Given the description of an element on the screen output the (x, y) to click on. 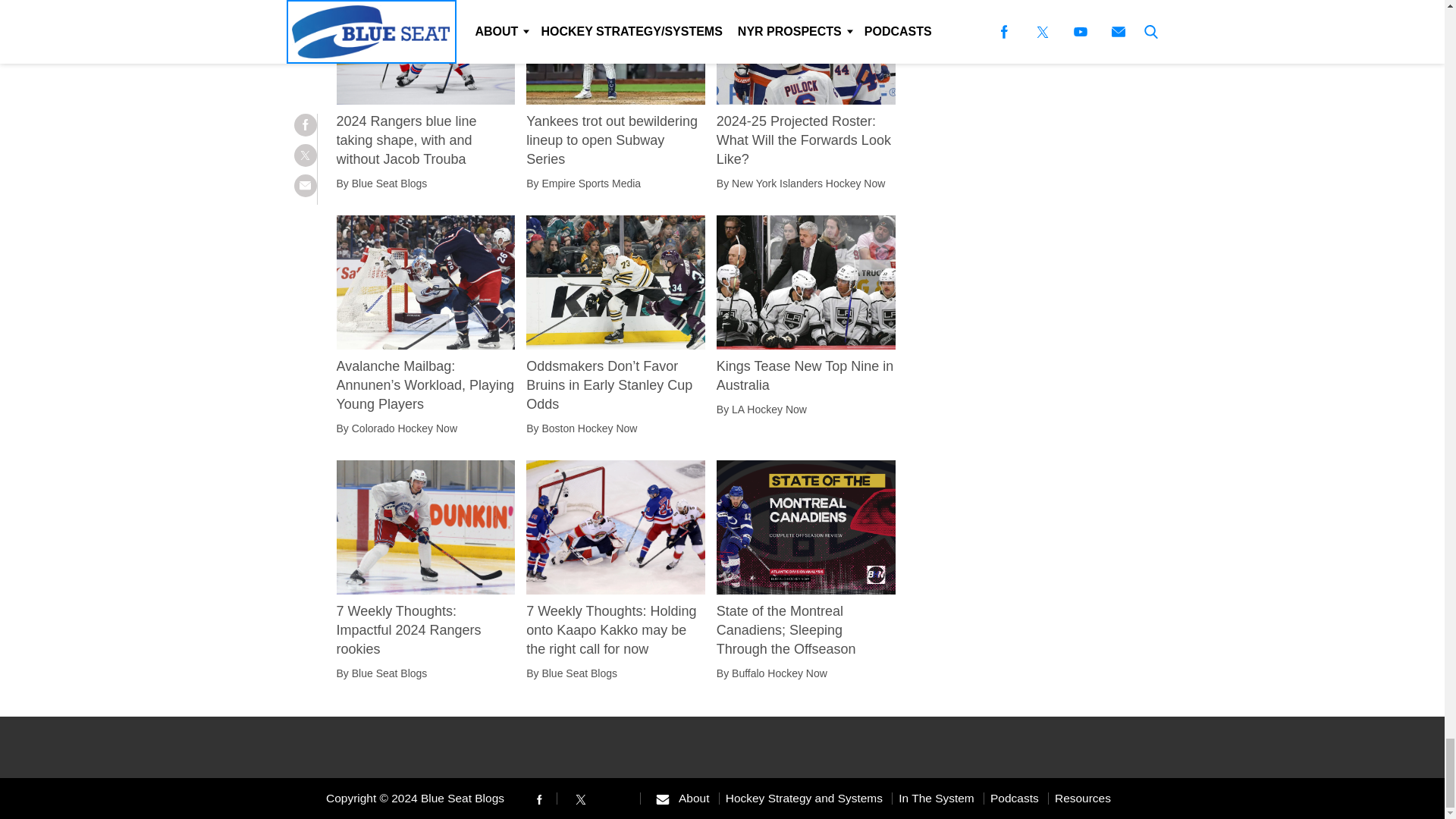
Envelope (662, 799)
Empire Sports Media (590, 183)
Yankees trot out bewildering lineup to open Subway Series (614, 140)
Twitter (580, 799)
Facebook (539, 799)
Blue Seat Blogs (390, 183)
Follow us on Facebook (539, 797)
Follow us on Twitter (580, 797)
Send us an email (662, 797)
